Given the description of an element on the screen output the (x, y) to click on. 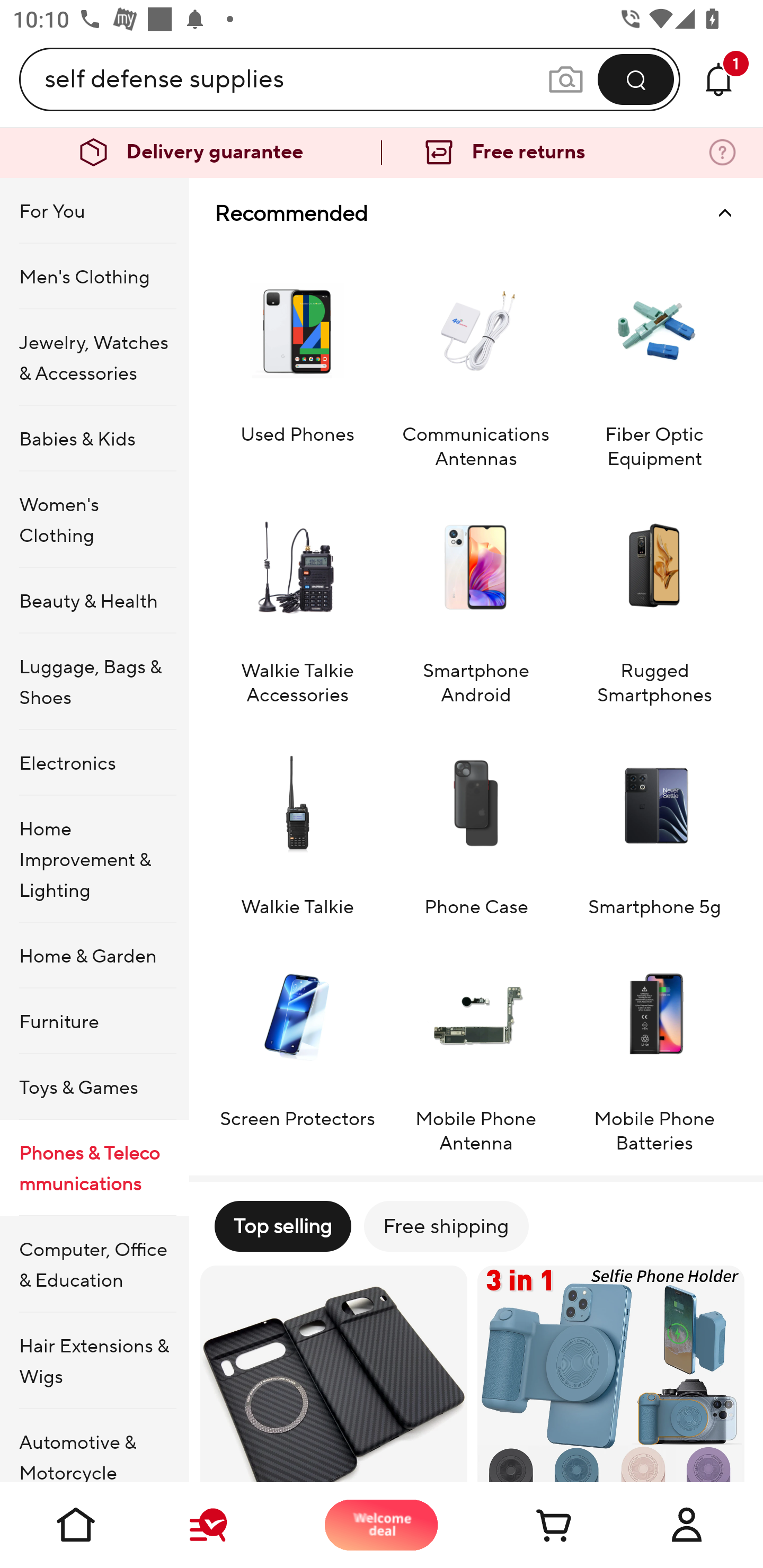
self defense supplies Search query (295, 79)
Messages 1 (718, 79)
Delivery guarantee Free returns (381, 152)
For You (94, 210)
Recommended  (476, 212)
Men's Clothing (94, 275)
Used Phones (296, 359)
Communications Antennas (475, 359)
Fiber Optic Equipment (654, 359)
Jewelry, Watches & Accessories (94, 357)
Babies & Kids (94, 438)
Women's Clothing (94, 519)
Walkie Talkie Accessories (296, 596)
Smartphone Android (475, 596)
Rugged Smartphones (654, 596)
Beauty & Health (94, 600)
Luggage, Bags & Shoes (94, 681)
Walkie Talkie (296, 820)
Phone Case (475, 820)
Smartphone 5g (654, 820)
Electronics (94, 762)
Home Improvement & Lighting (94, 858)
Home & Garden (94, 955)
Screen Protectors (296, 1044)
Mobile Phone Antenna (475, 1044)
Mobile Phone Batteries (654, 1044)
Furniture (94, 1020)
Toys & Games (94, 1086)
Phones & Telecommunications (94, 1167)
Top selling (282, 1226)
Free shipping (445, 1226)
Computer, Office & Education (94, 1264)
Hair Extensions & Wigs (94, 1360)
Automotive & Motorcycle (94, 1445)
Home (76, 1524)
Cart (533, 1524)
Account (686, 1524)
